Given the description of an element on the screen output the (x, y) to click on. 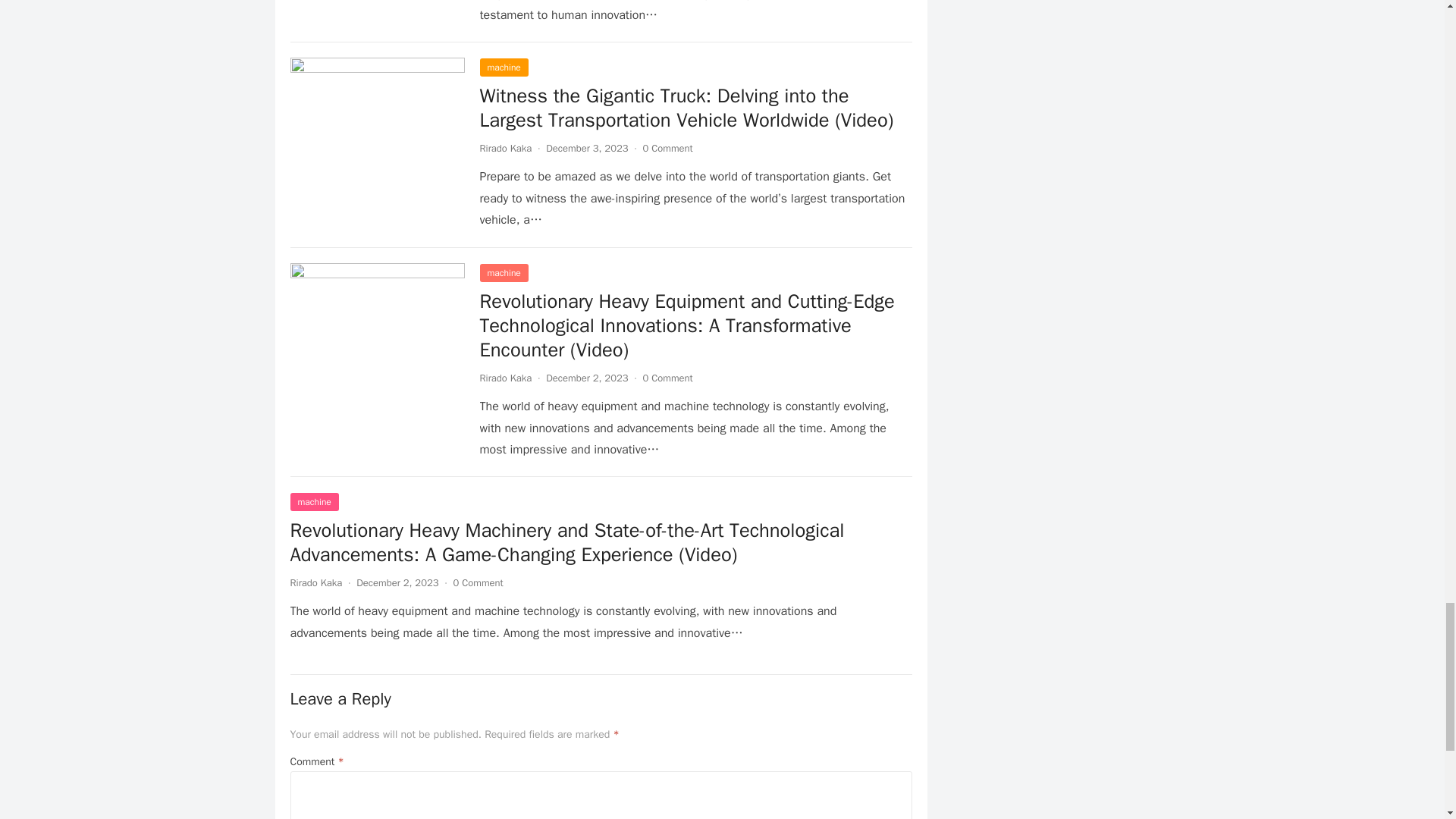
Posts by Rirado Kaka (315, 582)
Posts by Rirado Kaka (505, 147)
Posts by Rirado Kaka (505, 377)
